Given the description of an element on the screen output the (x, y) to click on. 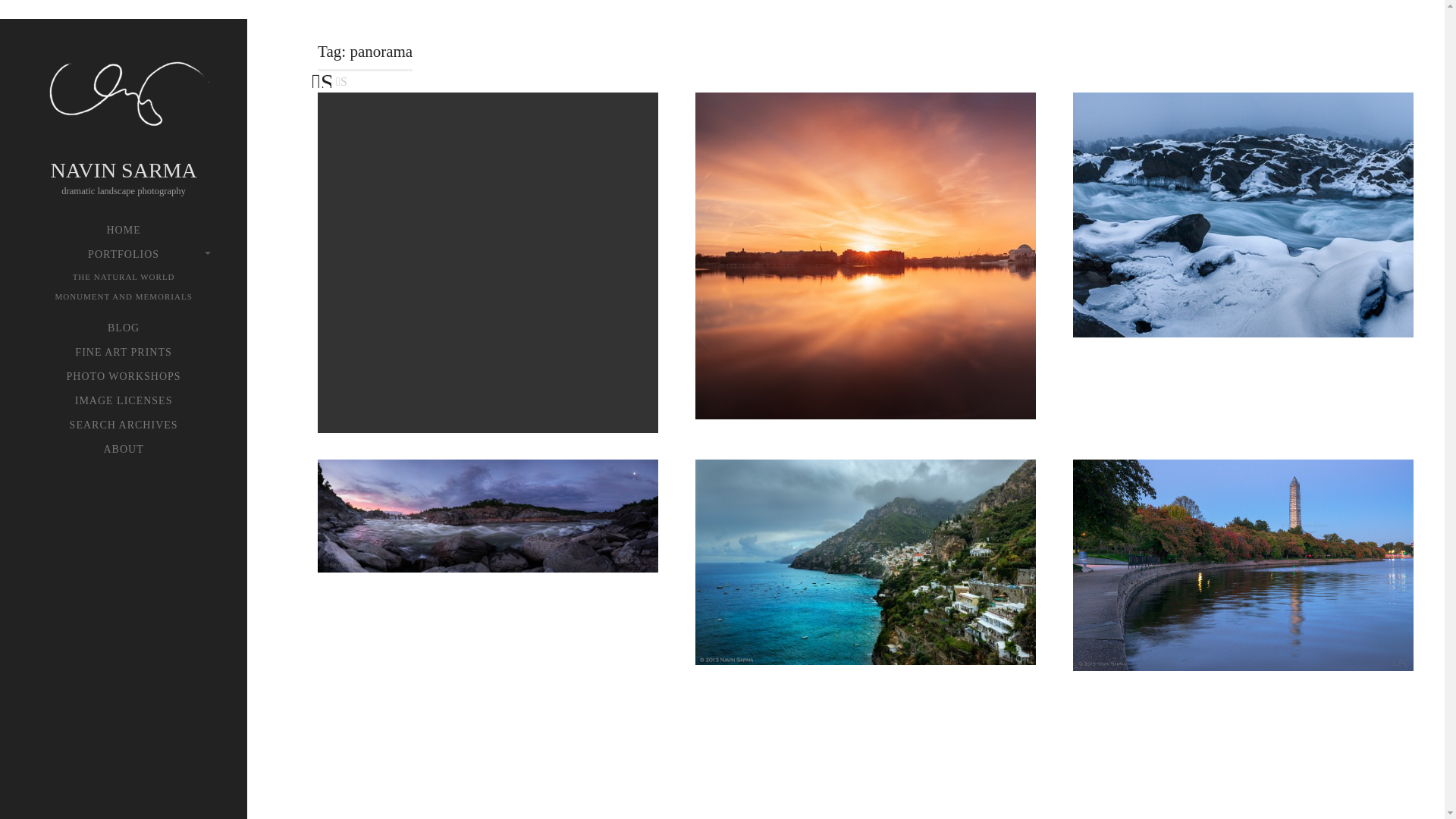
THE NATURAL WORLD (123, 276)
PORTFOLIOS (123, 254)
IMAGE LICENSES (123, 400)
Permalink to Sunrise Panoramic at the Tidal Basin (865, 256)
NAVIN SARMA (122, 169)
Permalink to Snow at Great Falls National Park (1243, 215)
Show List (341, 78)
SEARCH ARCHIVES (123, 424)
FINE ART PRINTS (123, 352)
BLOG (123, 328)
Show Grid (321, 74)
NAVIN SARMA (123, 97)
ABOUT (123, 449)
PHOTO WORKSHOPS (123, 376)
Permalink to MORE Great Blue Herons at Great Falls! (487, 262)
